Given the description of an element on the screen output the (x, y) to click on. 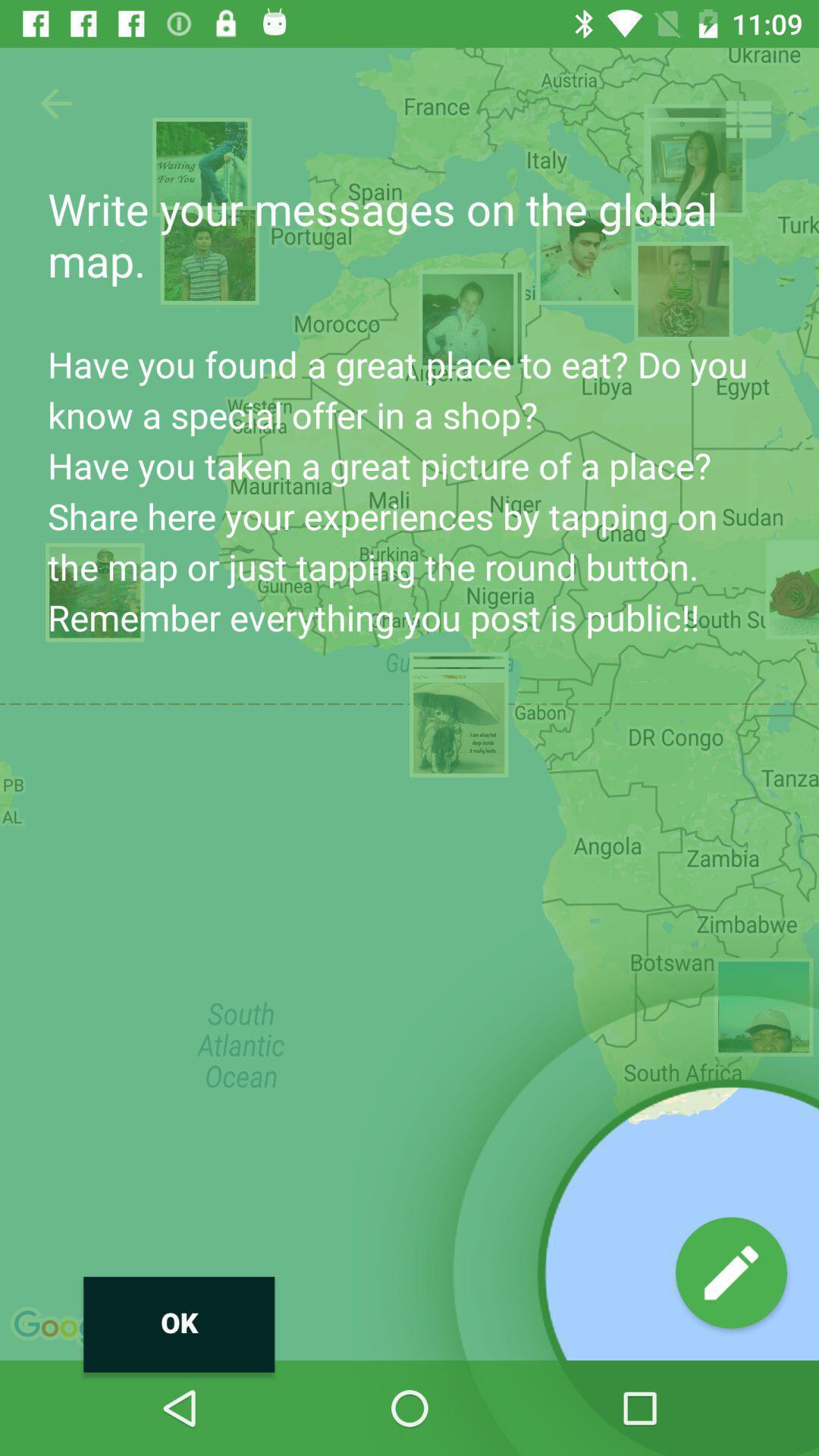
open more options (747, 119)
